Given the description of an element on the screen output the (x, y) to click on. 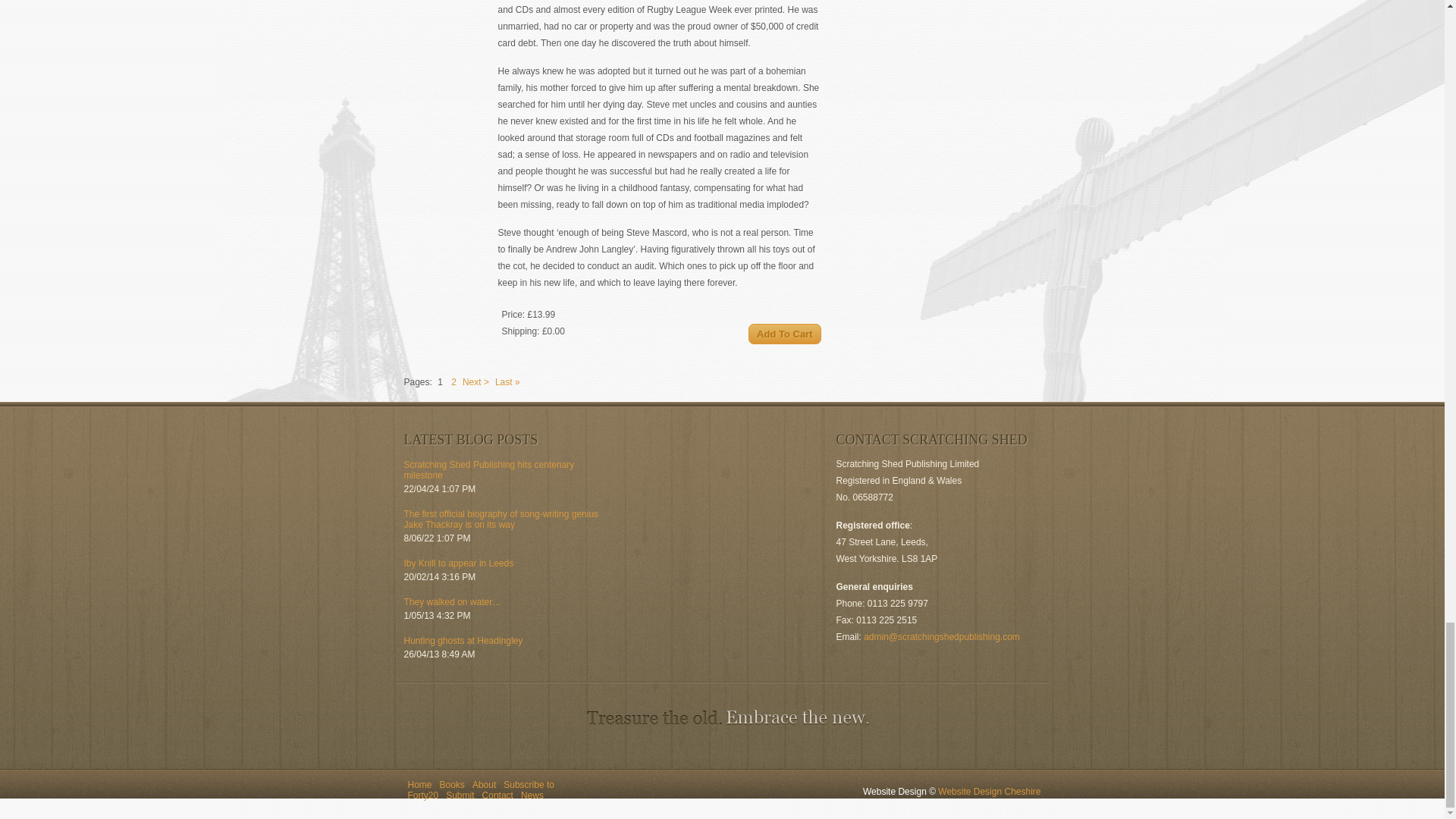
Add To Cart (784, 333)
